Given the description of an element on the screen output the (x, y) to click on. 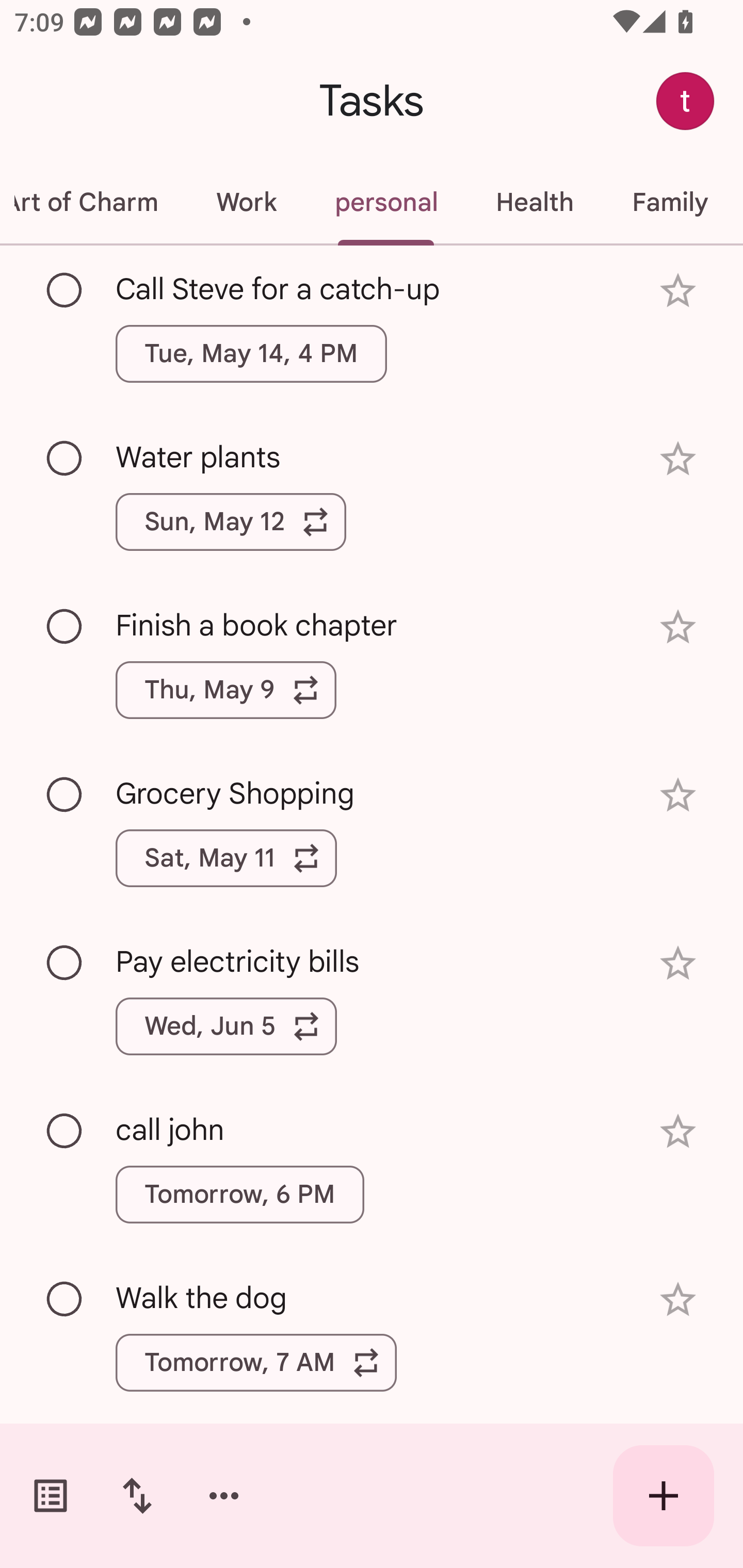
The Art of Charm (93, 202)
Work (245, 202)
Health (534, 202)
Family (669, 202)
Add star (677, 290)
Mark as complete (64, 290)
Tue, May 14, 4 PM (251, 353)
Add star (677, 458)
Mark as complete (64, 459)
Sun, May 12 (230, 522)
Add star (677, 627)
Mark as complete (64, 627)
Thu, May 9 (225, 689)
Add star (677, 795)
Mark as complete (64, 794)
Sat, May 11 (225, 858)
Add star (677, 963)
Mark as complete (64, 963)
Wed, Jun 5 (225, 1026)
Add star (677, 1131)
Mark as complete (64, 1132)
Tomorrow, 6 PM (239, 1193)
Add star (677, 1299)
Mark as complete (64, 1299)
Tomorrow, 7 AM (255, 1362)
Switch task lists (50, 1495)
Create new task (663, 1495)
Change sort order (136, 1495)
More options (223, 1495)
